Given the description of an element on the screen output the (x, y) to click on. 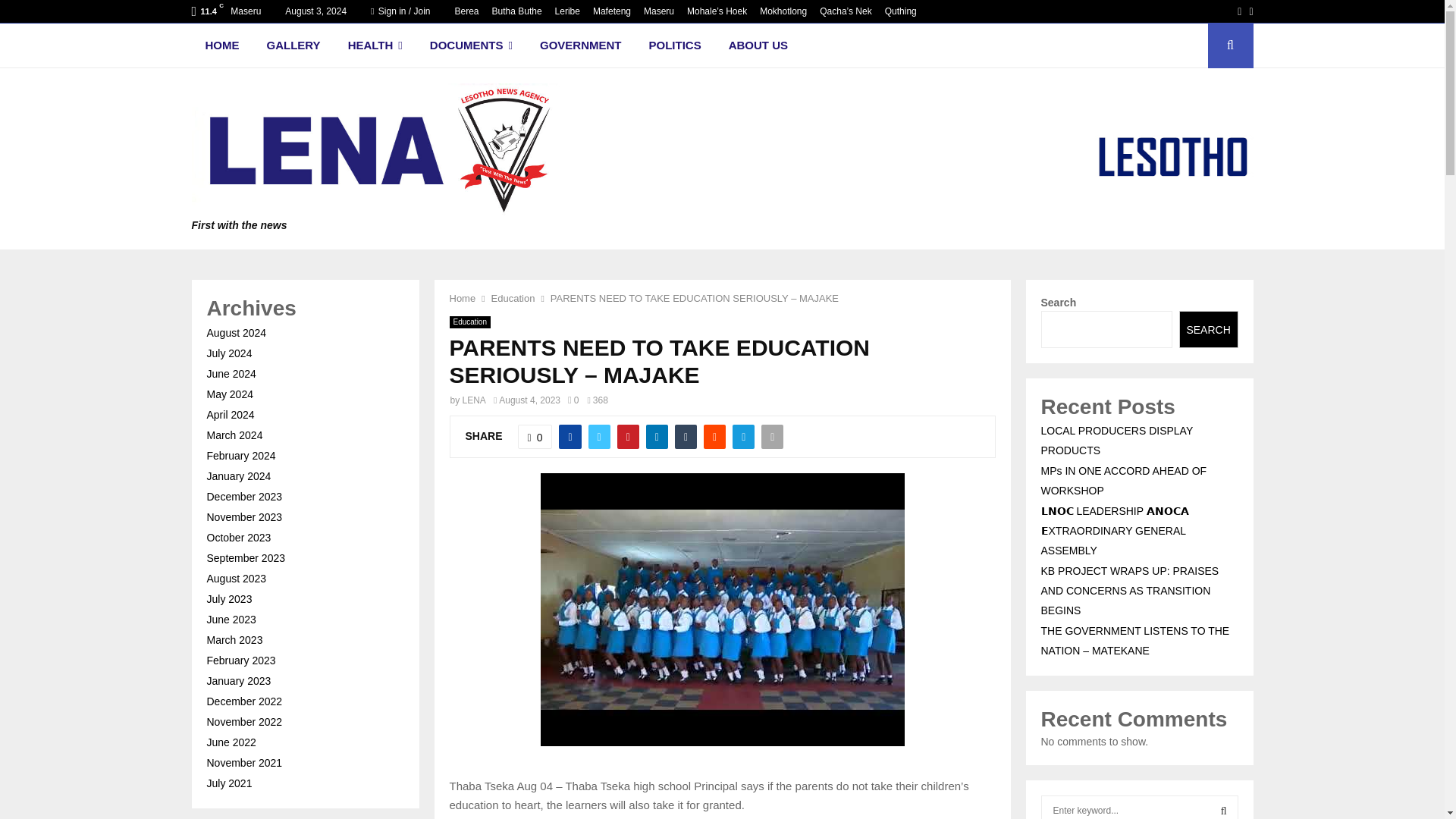
Sign up new account (722, 415)
Leribe (566, 11)
Like (535, 436)
Berea (466, 11)
HOME (220, 44)
HEALTH (375, 44)
Butha Buthe (516, 11)
Login to your account (722, 293)
Maseru (658, 11)
Mokhotlong (783, 11)
Quthing (901, 11)
GALLERY (293, 44)
Mafeteng (611, 11)
